Given the description of an element on the screen output the (x, y) to click on. 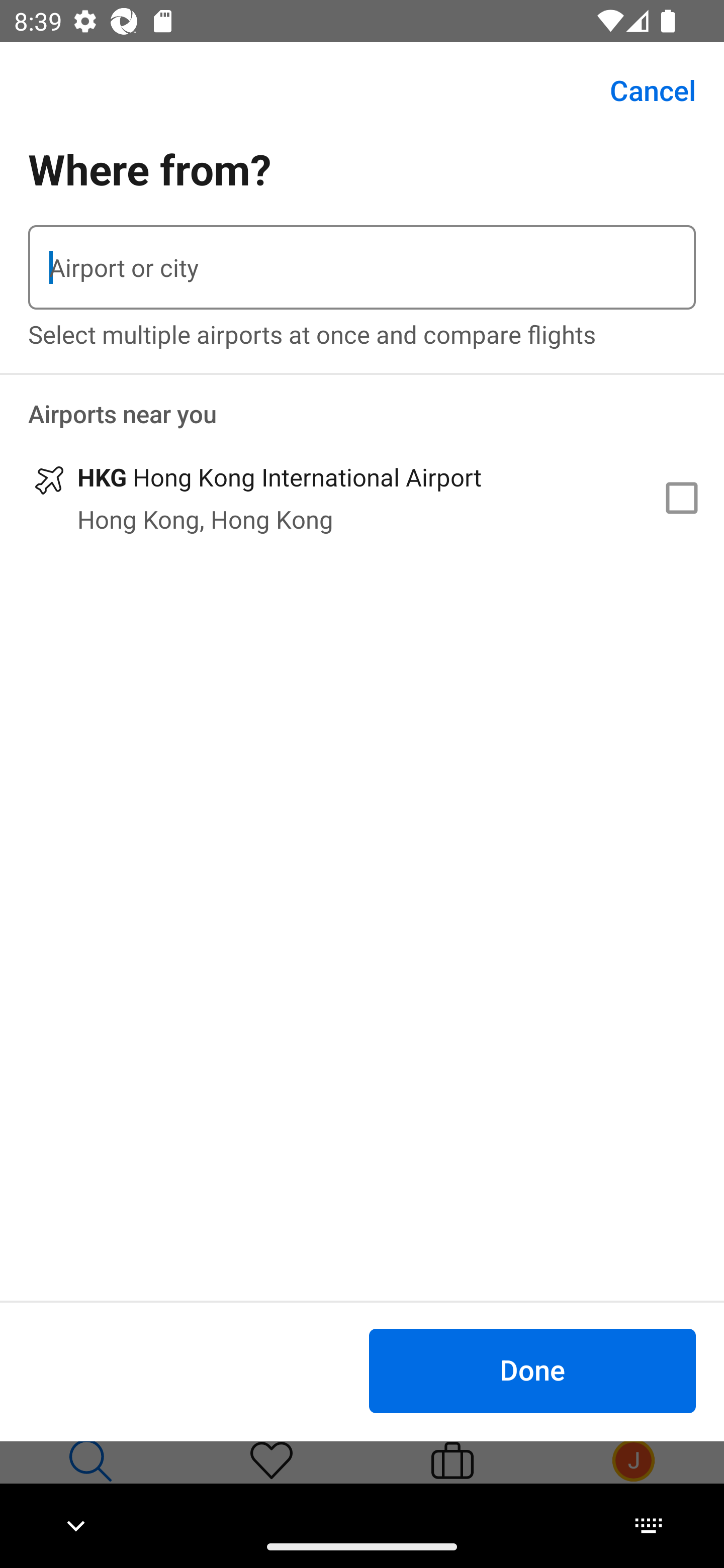
Cancel (641, 90)
Airport or city (361, 266)
Done (532, 1370)
